Given the description of an element on the screen output the (x, y) to click on. 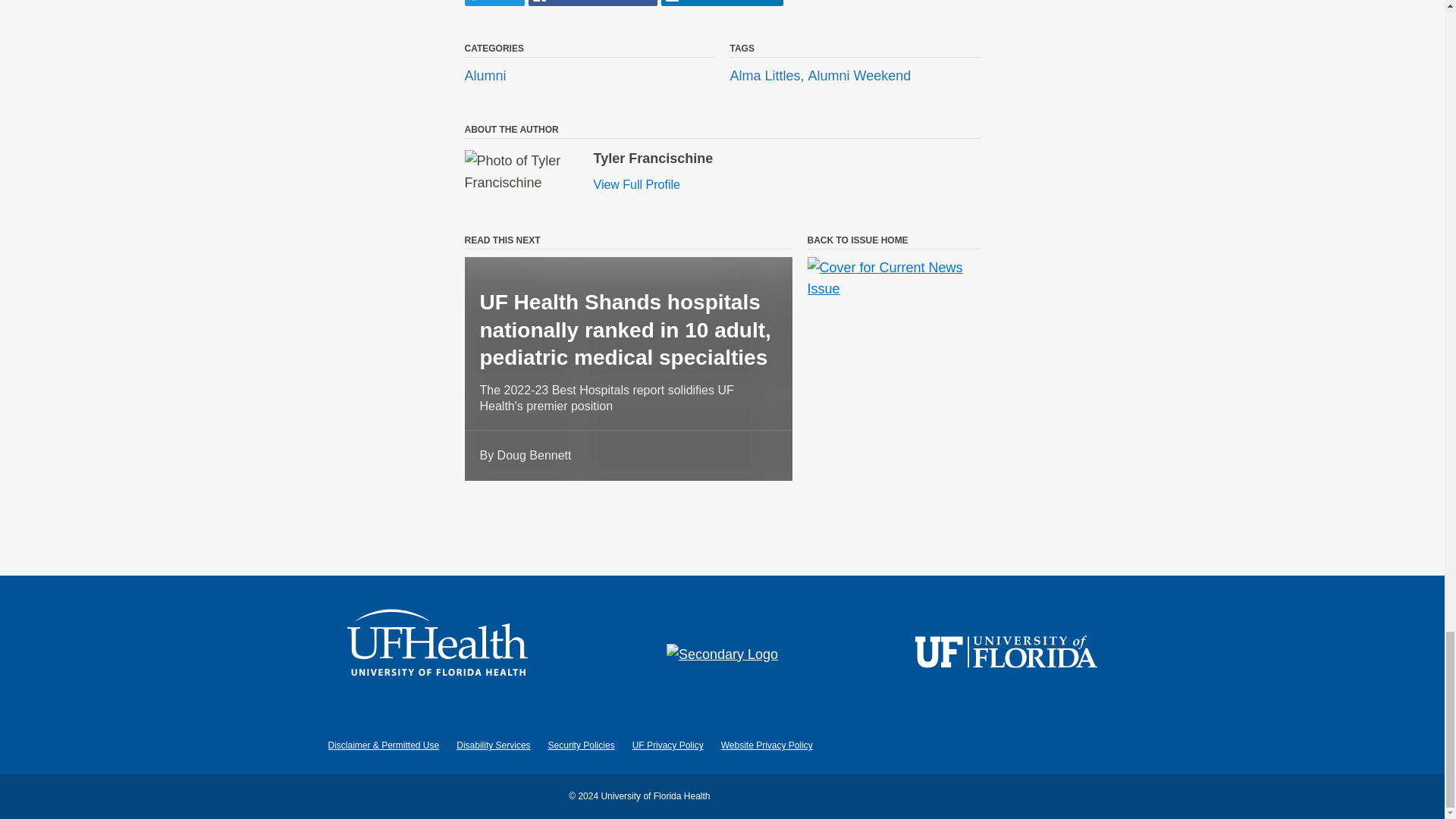
UF Health (437, 654)
Share on Facebook (593, 3)
University of Florida Logo (1005, 654)
Share on LinkedIn (722, 3)
Alumni Weekend (859, 76)
University of Florida (1005, 654)
Alumni (484, 76)
UF Privacy Policy (667, 745)
Website Privacy Policy (766, 745)
